Given the description of an element on the screen output the (x, y) to click on. 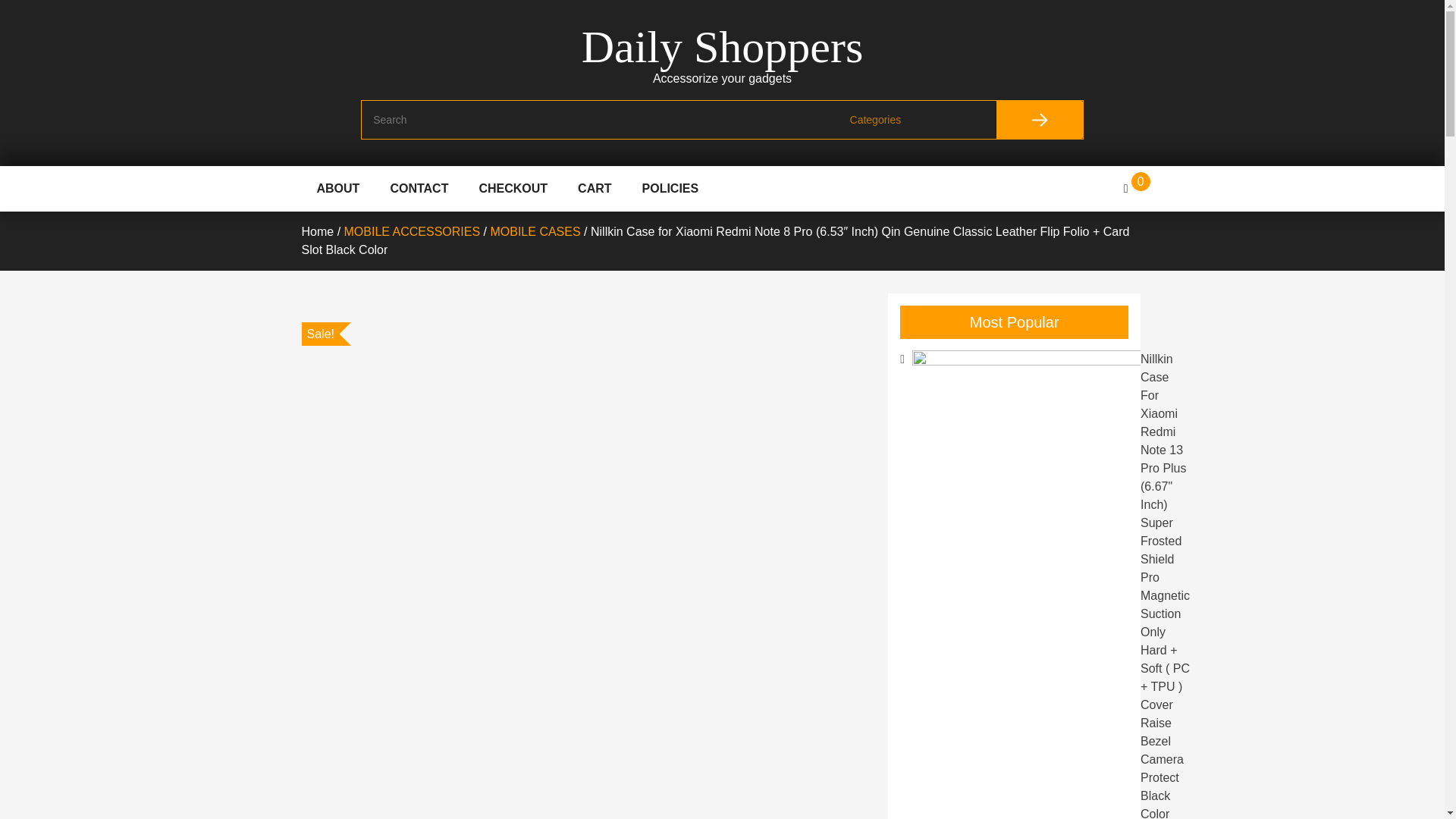
MOBILE ACCESSORIES (411, 231)
CONTACT (419, 188)
POLICIES (670, 188)
MOBILE CASES (534, 231)
CHECKOUT (513, 188)
CART (594, 188)
Search (1039, 119)
ABOUT (338, 188)
